Given the description of an element on the screen output the (x, y) to click on. 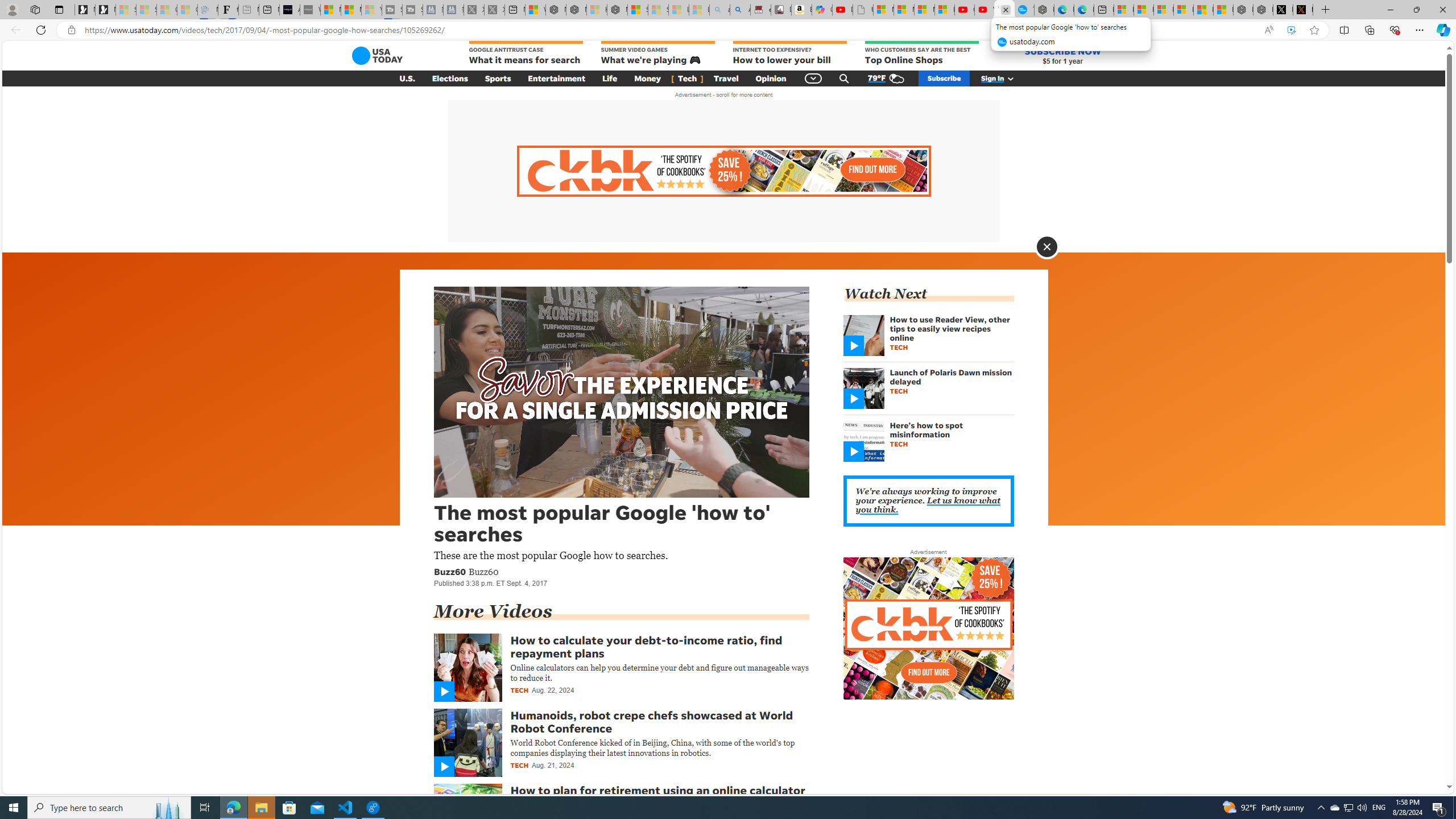
Subscribe (943, 78)
Class: gnt_n_us_a_svg (1008, 78)
SUBSCRIBE NOW $5 for 1 year (1062, 55)
AutomationID: aw0 (928, 629)
Day 1: Arriving in Yemen (surreal to be here) - YouTube (842, 9)
Opinion (770, 78)
